Given the description of an element on the screen output the (x, y) to click on. 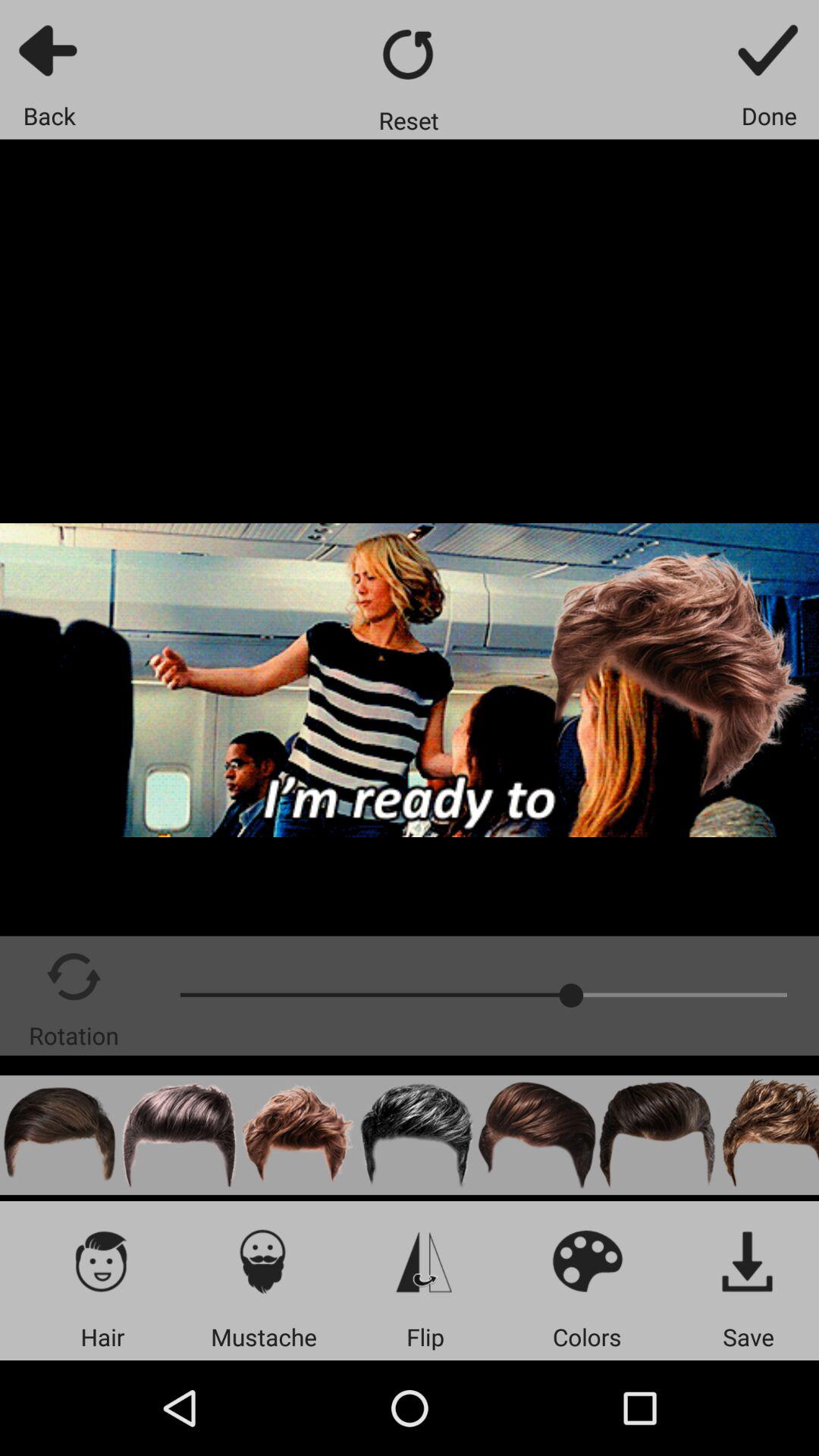
turn on the item above the save icon (748, 1260)
